Given the description of an element on the screen output the (x, y) to click on. 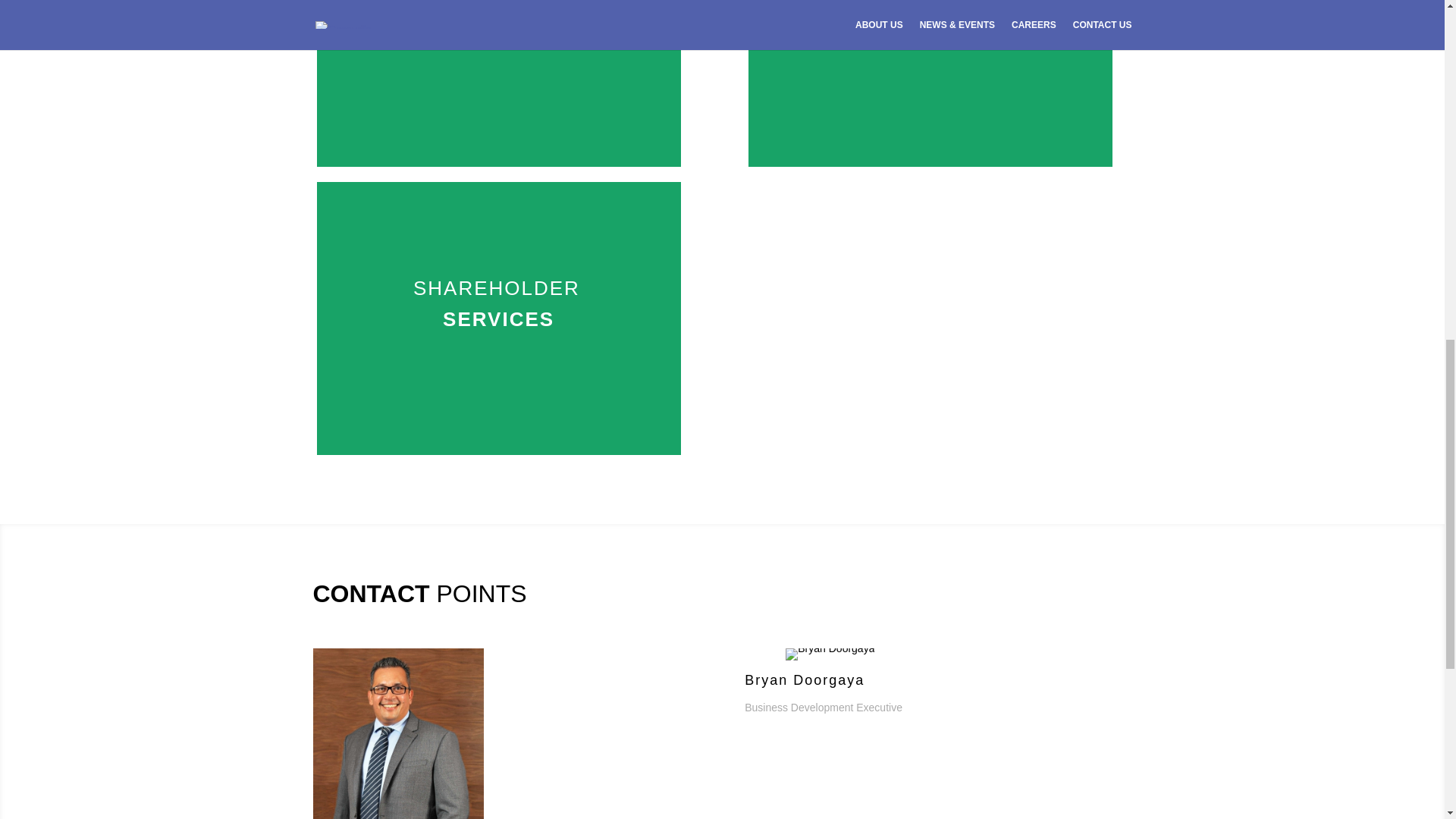
INTELLECTUAL PROPERTY (929, 21)
TRAINING, AUDIT AND COMPLIANCE (498, 21)
SHAREHOLDER  SERVICES (498, 303)
